Given the description of an element on the screen output the (x, y) to click on. 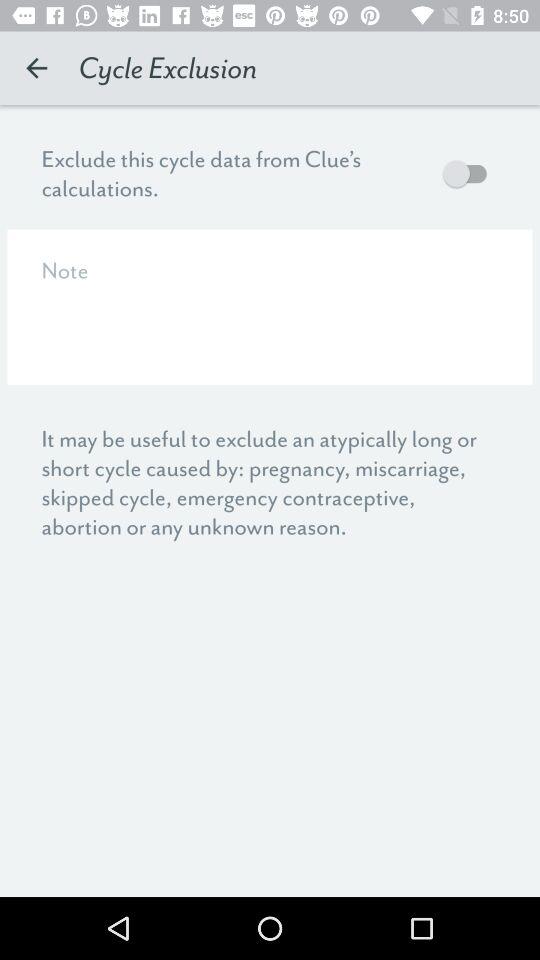
select the app next to cycle exclusion item (36, 68)
